Given the description of an element on the screen output the (x, y) to click on. 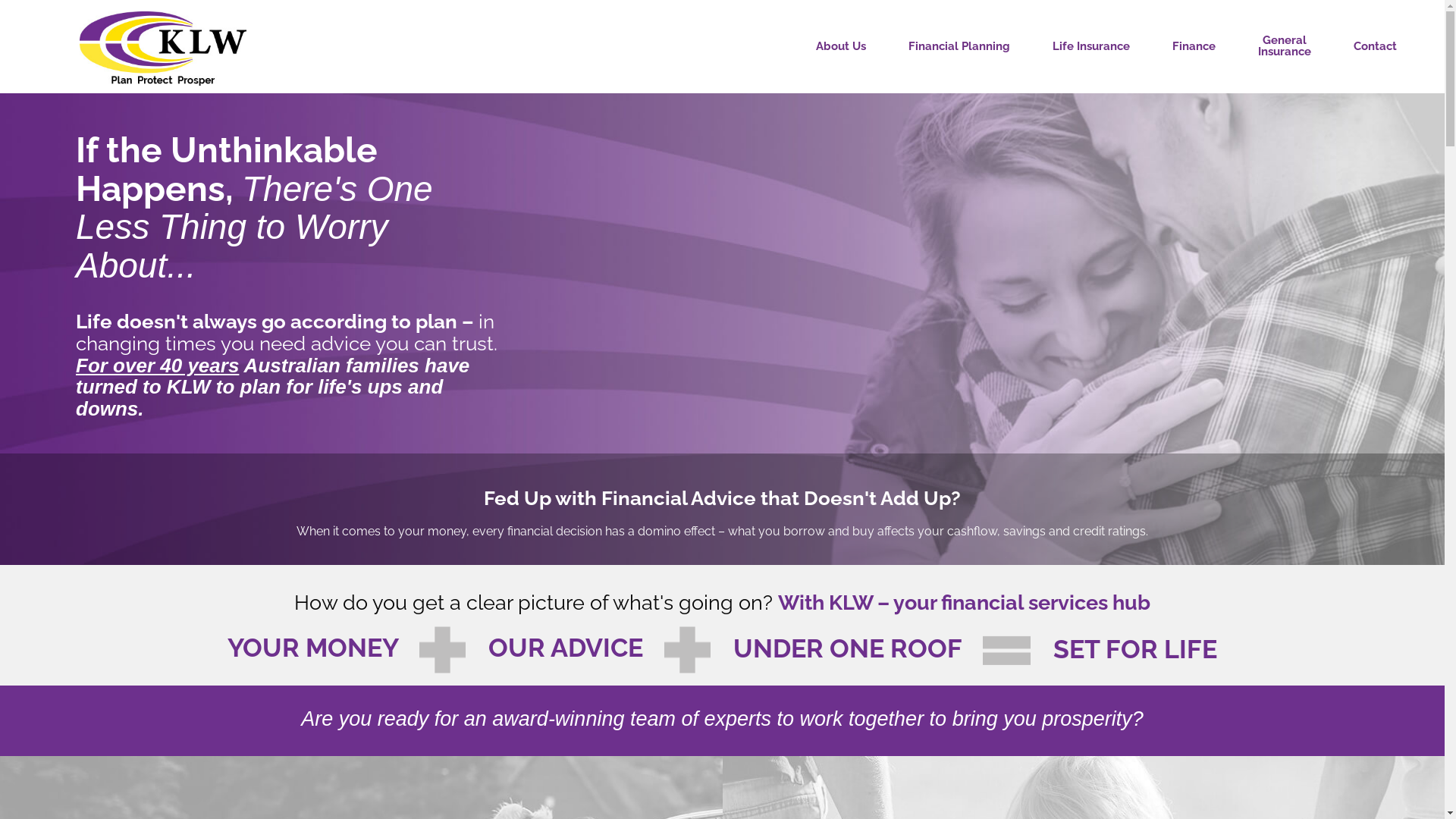
For over 40 years Element type: text (156, 365)
Contact Element type: text (1374, 46)
Life Insurance Element type: text (1090, 46)
Financial Planning Element type: text (959, 46)
Finance Element type: text (1193, 46)
About Us Element type: text (840, 46)
General
Insurance Element type: text (1284, 45)
